Given the description of an element on the screen output the (x, y) to click on. 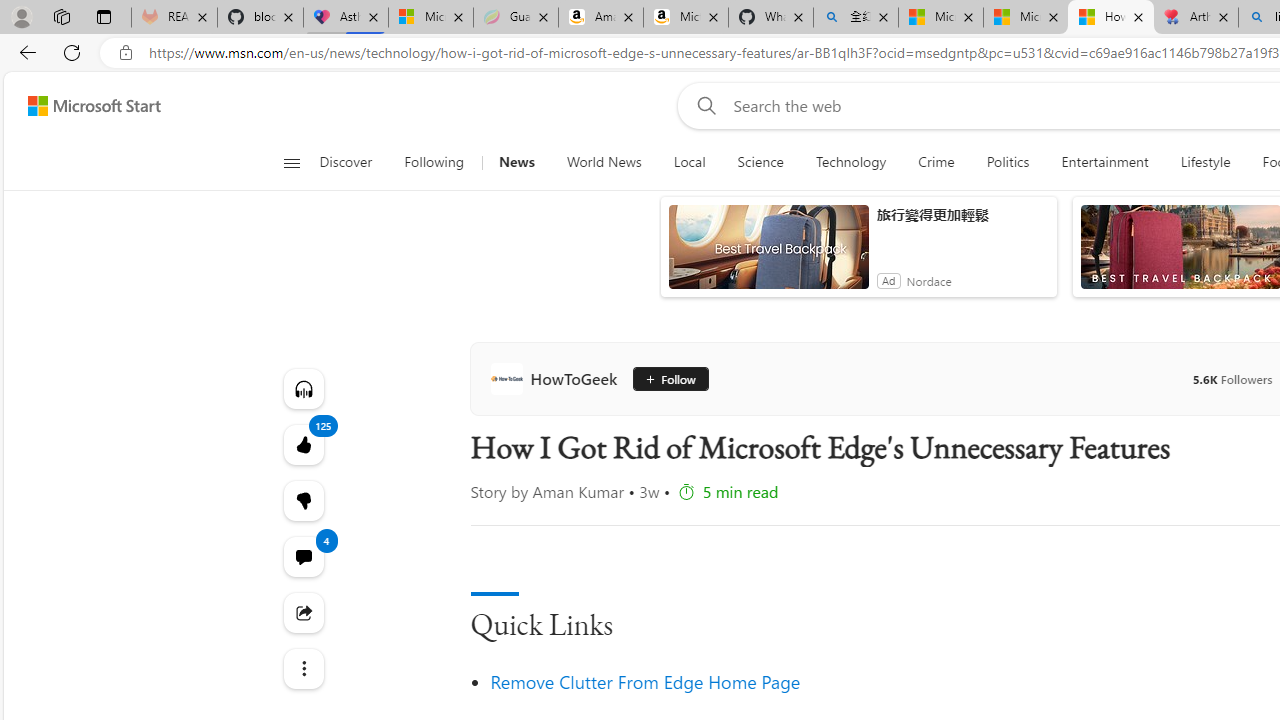
Politics (1007, 162)
Lifestyle (1204, 162)
World News (603, 162)
Share this story (302, 612)
125 (302, 500)
Politics (1007, 162)
Listen to this article (302, 388)
Technology (851, 162)
